Given the description of an element on the screen output the (x, y) to click on. 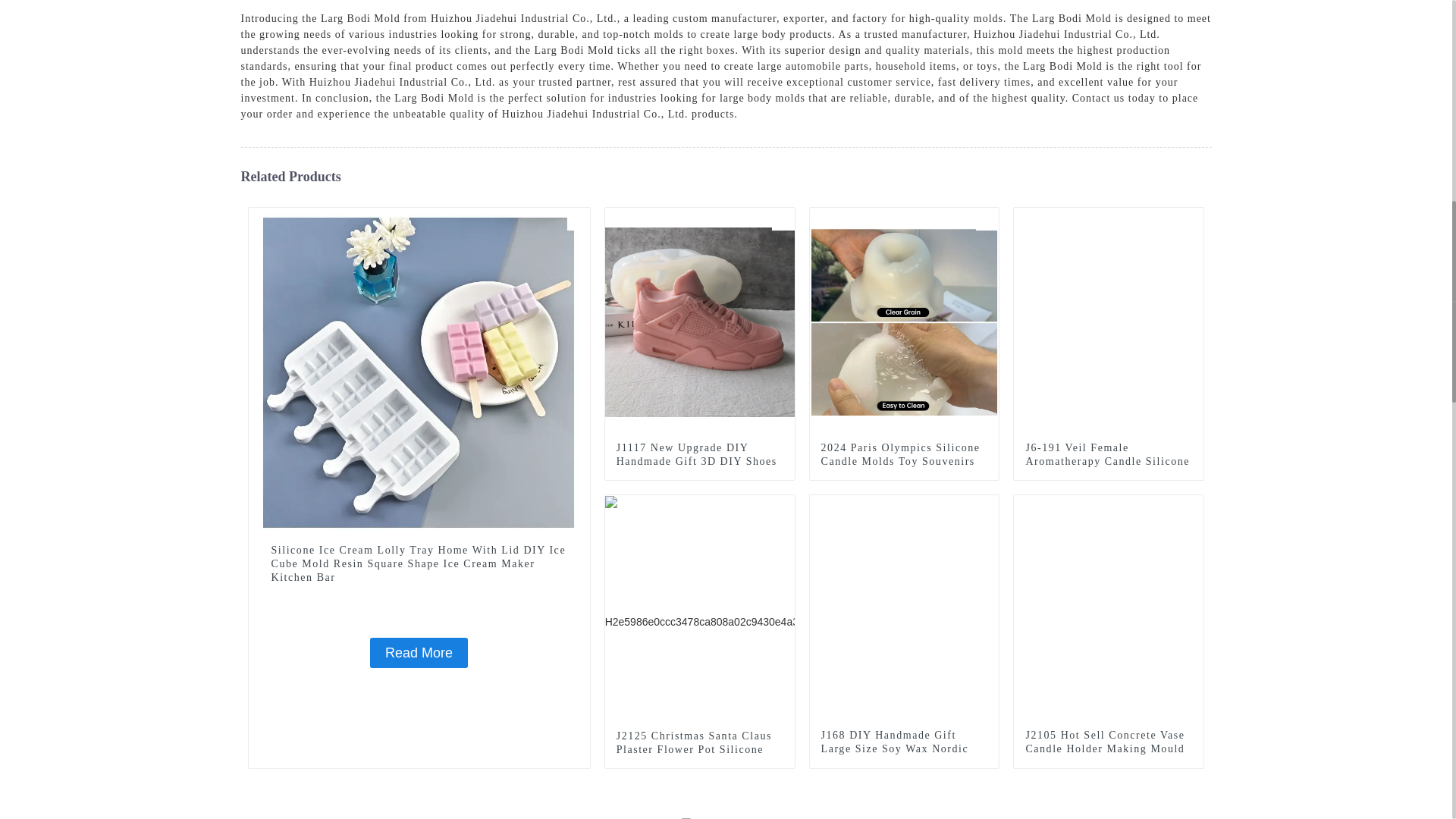
Read More (418, 653)
804 (986, 219)
